Given the description of an element on the screen output the (x, y) to click on. 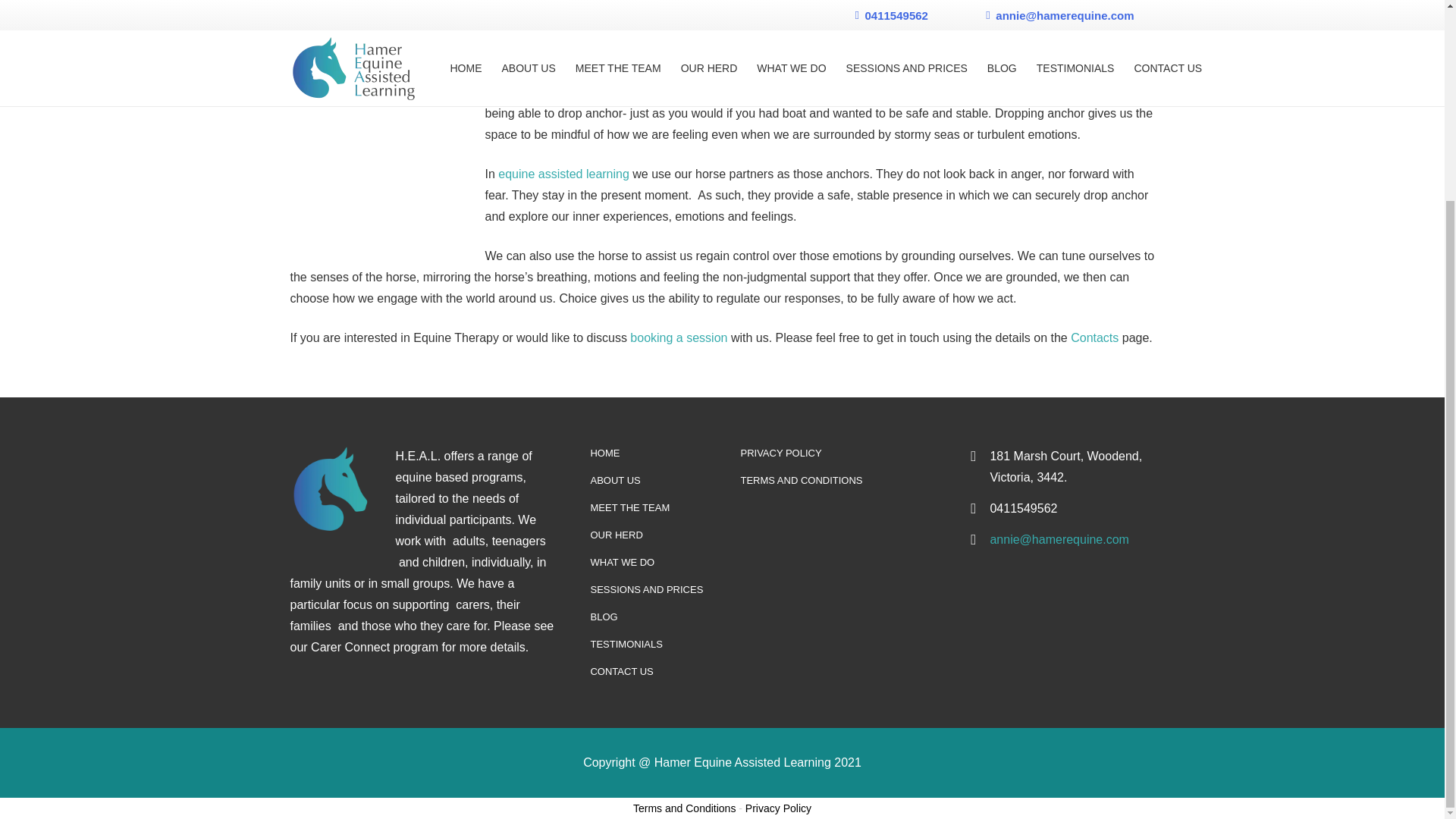
MEET THE TEAM (629, 507)
Privacy Policy (777, 808)
CONTACT US (620, 671)
SESSIONS AND PRICES (646, 589)
booking a session (678, 337)
OUR HERD (615, 534)
TESTIMONIALS (625, 644)
Contacts (1094, 337)
WHAT WE DO (621, 562)
ABOUT US (614, 480)
TERMS AND CONDITIONS (800, 480)
BLOG (603, 616)
Terms and Conditions (684, 808)
PRIVACY POLICY (780, 452)
equine assisted learning (562, 173)
